Given the description of an element on the screen output the (x, y) to click on. 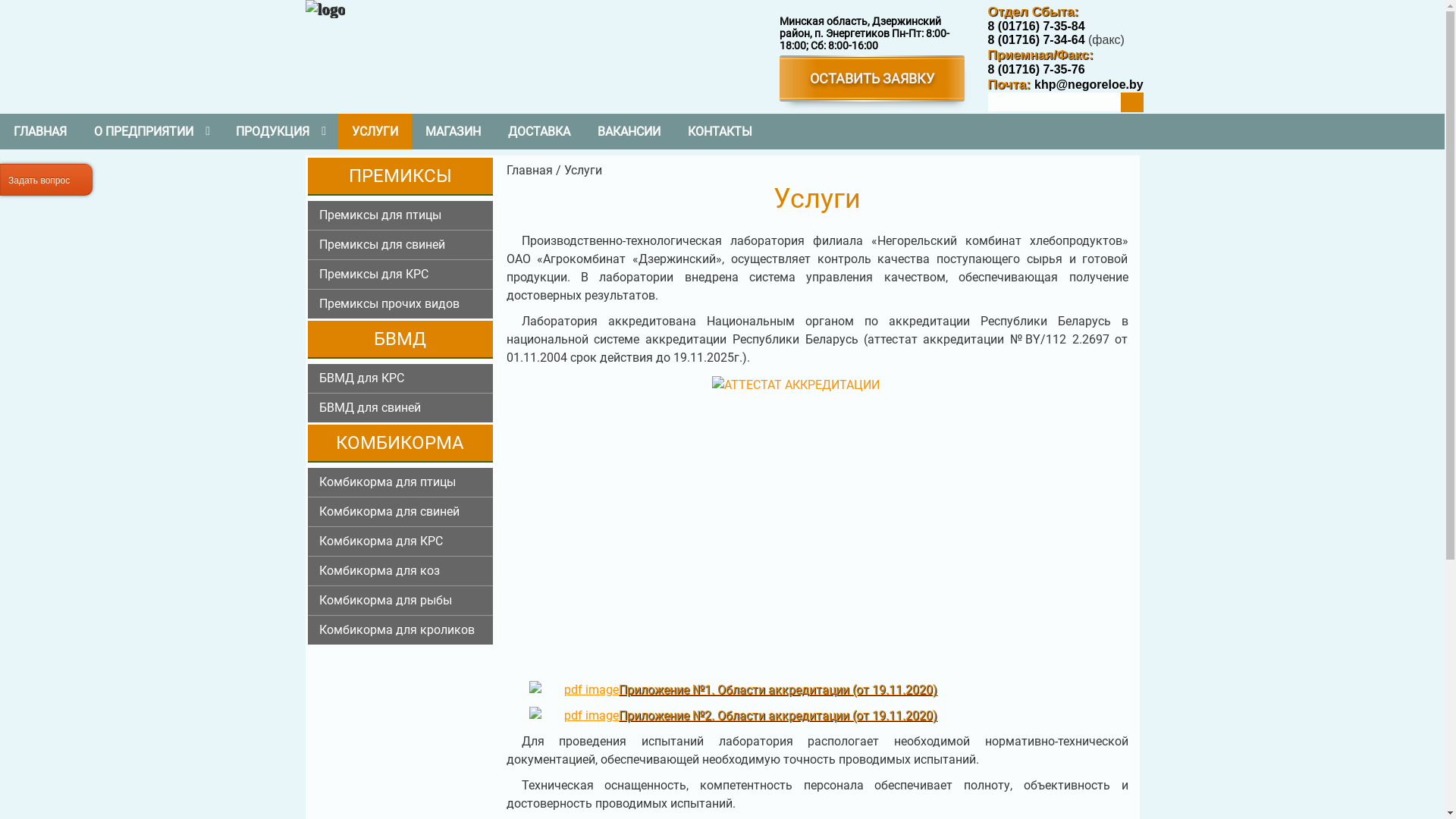
8 (01716) 7-35-76 Element type: text (1035, 68)
8 (01716) 7-34-64 Element type: text (1035, 39)
8 (01716) 7-35-84 Element type: text (1035, 25)
khp@negoreloe.by Element type: text (1086, 83)
